Given the description of an element on the screen output the (x, y) to click on. 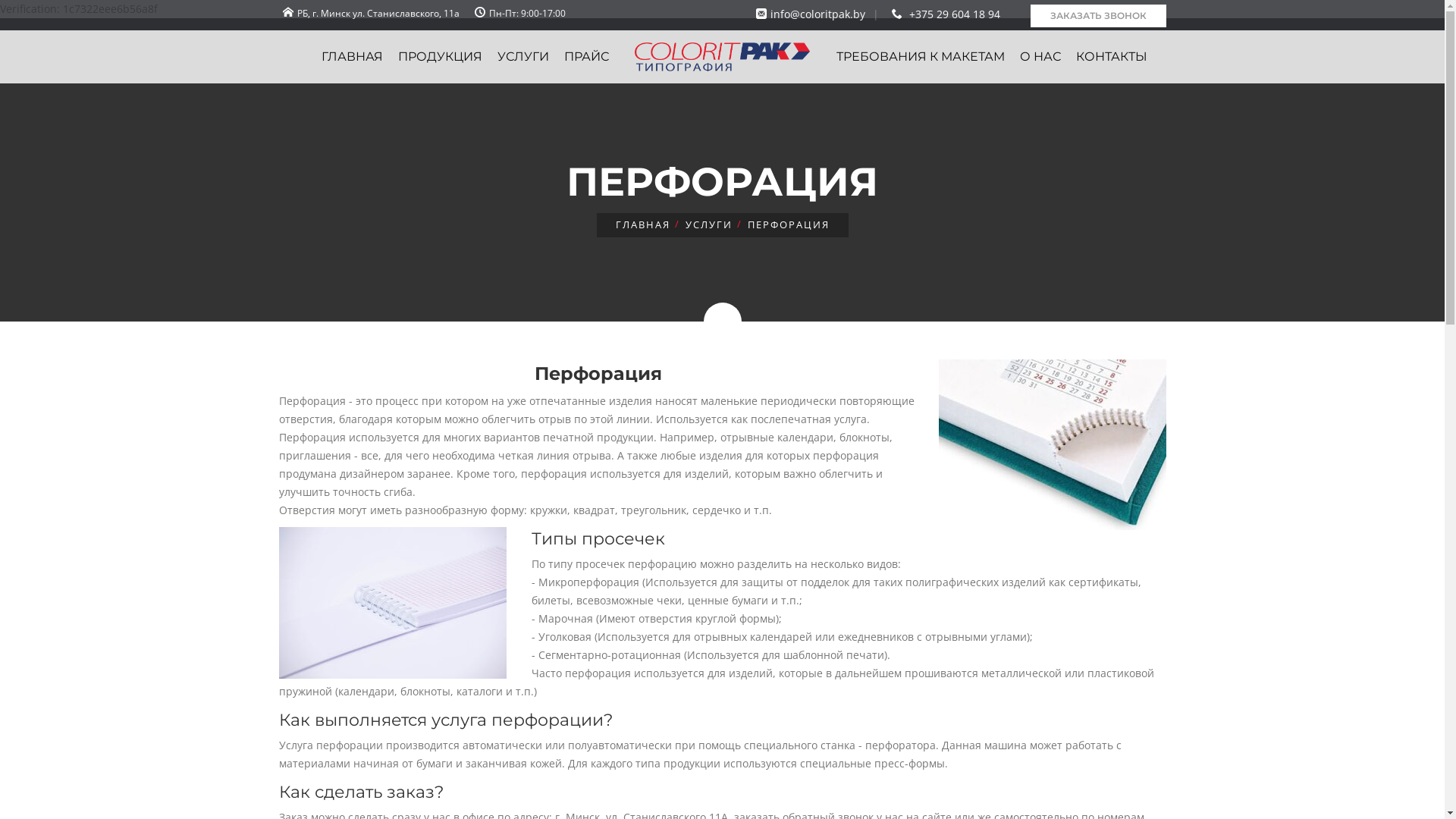
info@coloritpak.by Element type: text (808, 14)
+375 29 604 18 94 Element type: text (943, 14)
